Given the description of an element on the screen output the (x, y) to click on. 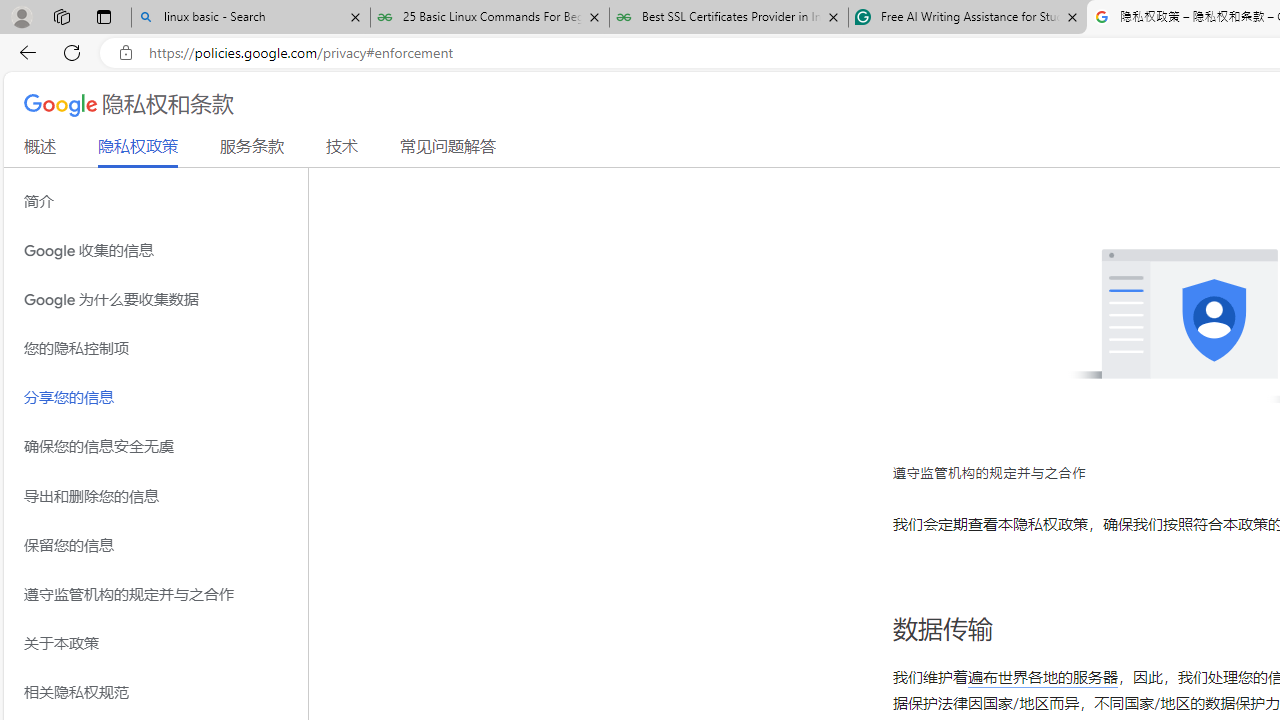
Best SSL Certificates Provider in India - GeeksforGeeks (729, 17)
linux basic - Search (250, 17)
25 Basic Linux Commands For Beginners - GeeksforGeeks (490, 17)
Free AI Writing Assistance for Students | Grammarly (967, 17)
